Given the description of an element on the screen output the (x, y) to click on. 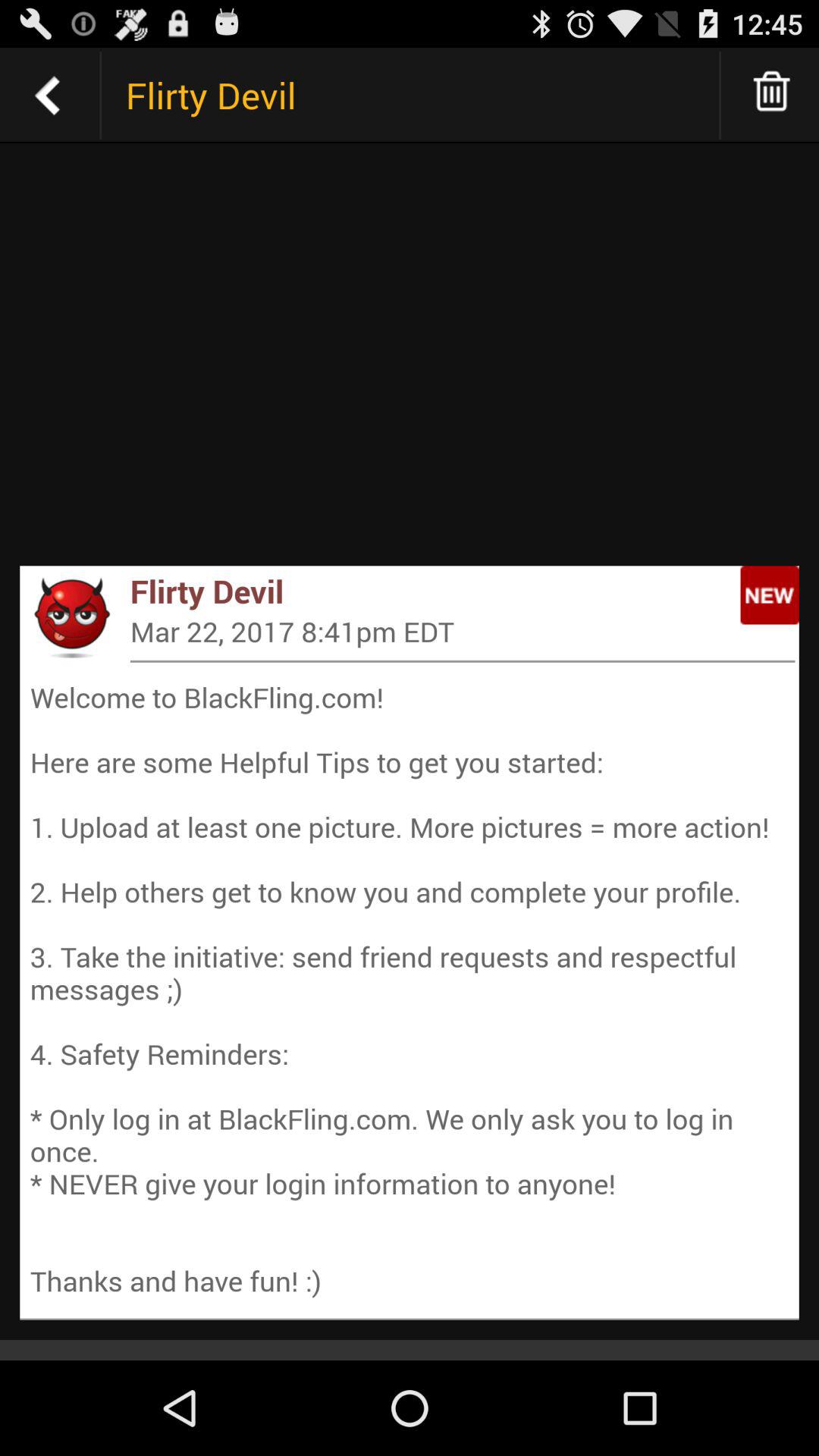
jump until the mar 22 2017 item (462, 631)
